Given the description of an element on the screen output the (x, y) to click on. 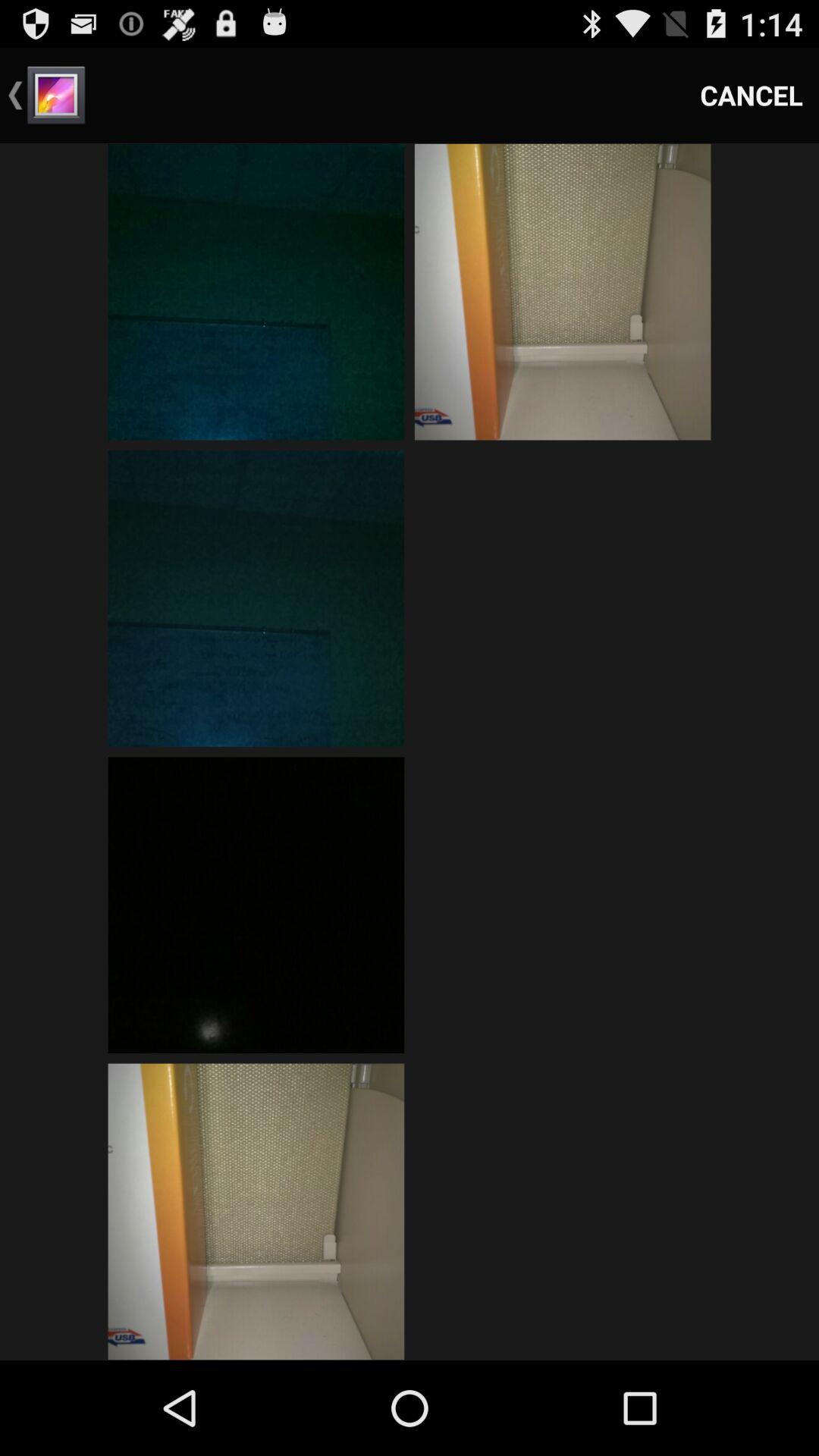
launch the item at the top right corner (751, 95)
